Given the description of an element on the screen output the (x, y) to click on. 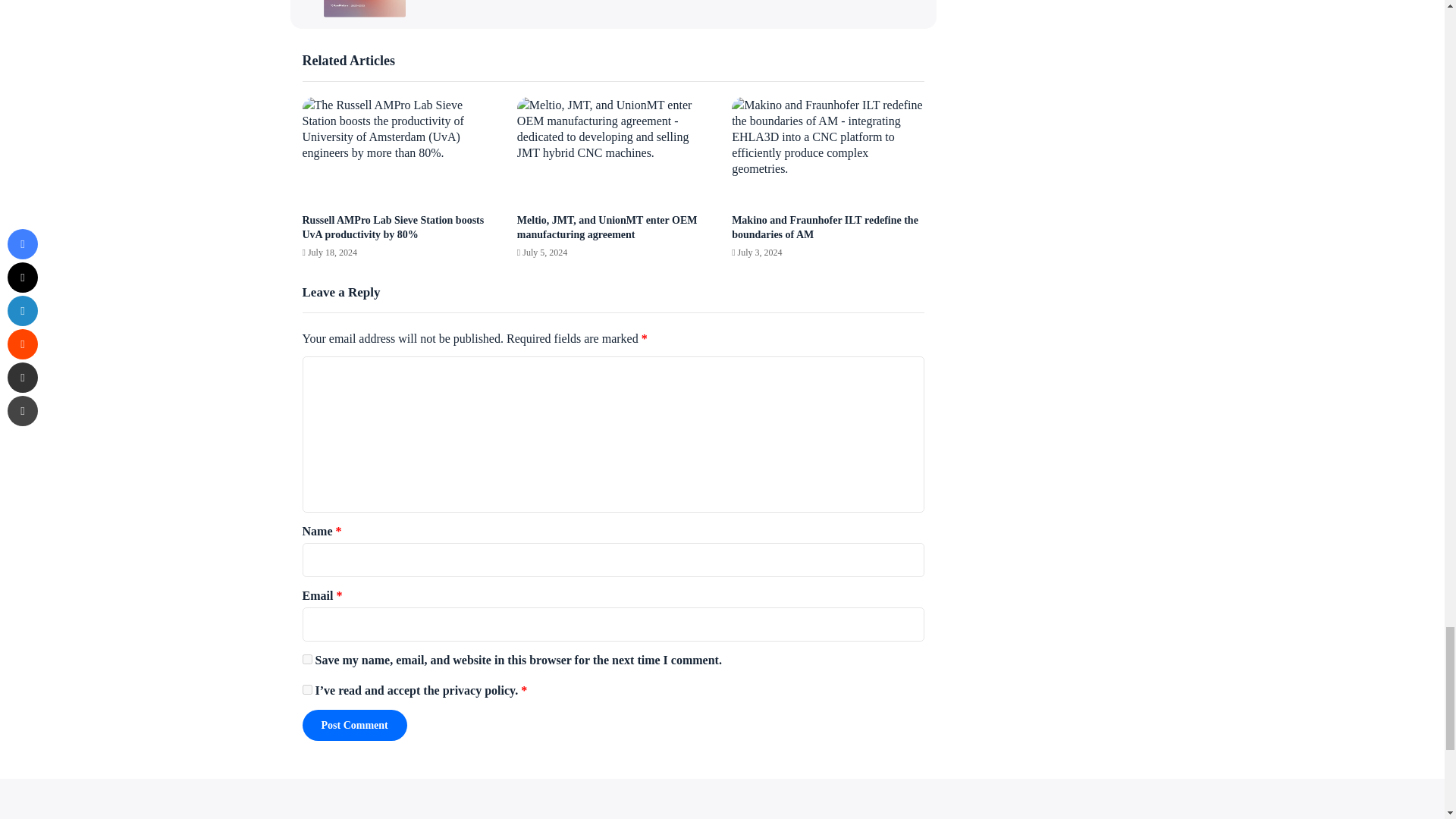
Post Comment (353, 725)
on (306, 689)
yes (306, 659)
